Given the description of an element on the screen output the (x, y) to click on. 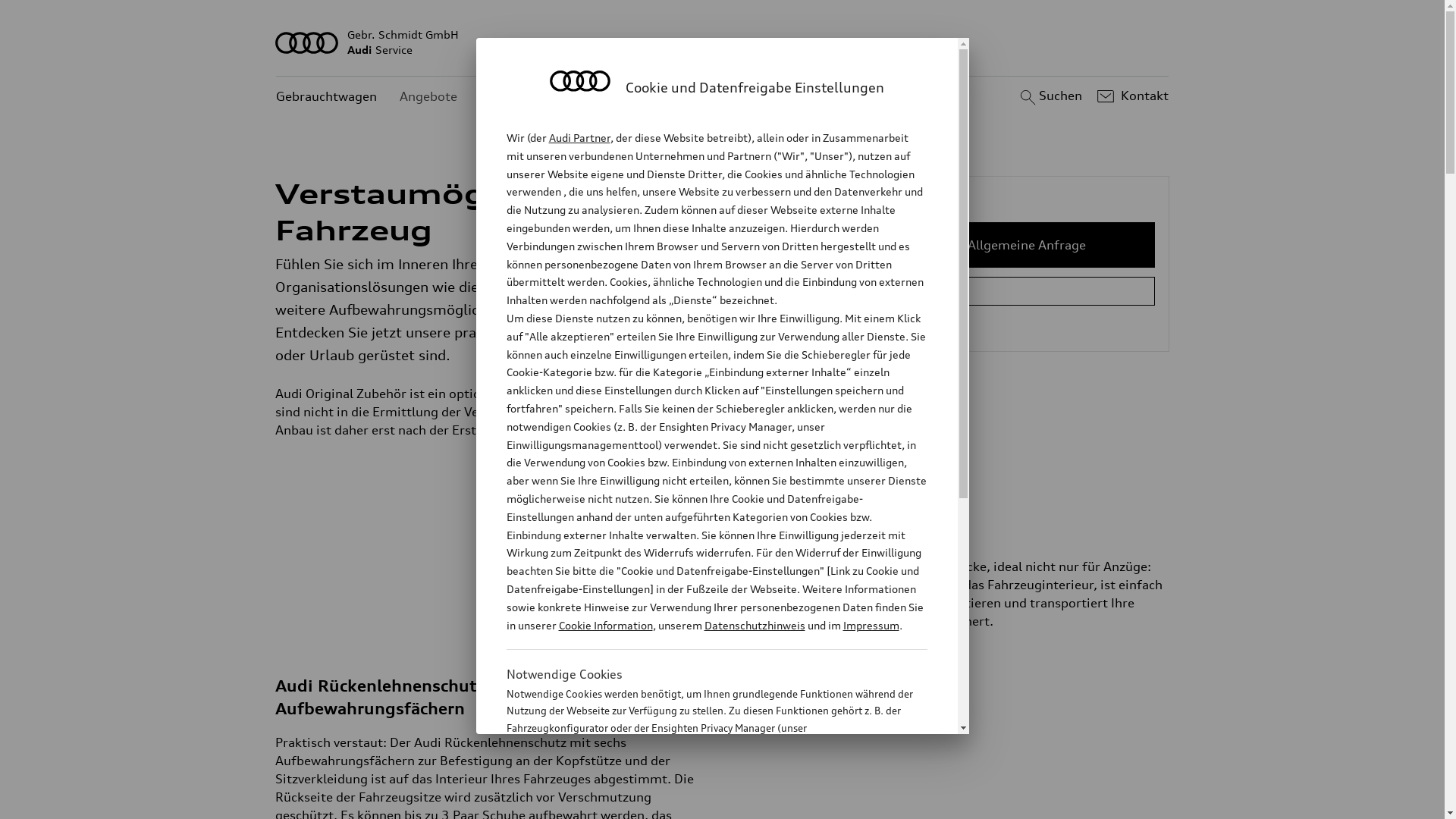
Gebrauchtwagen Element type: text (326, 96)
Impressum Element type: text (842, 607)
Gebr. Schmidt GmbH
AudiService Element type: text (722, 42)
Audi Partner Element type: text (575, 137)
Angebote Element type: text (428, 96)
Allgemeine Anfrage Element type: text (1025, 244)
Kundenservice Element type: text (523, 96)
Cookie Information Element type: text (589, 607)
Kontakt Element type: text (1130, 96)
Datenschutzhinweis Element type: text (731, 607)
Cookie Information Element type: text (847, 776)
Suchen Element type: text (1049, 96)
